Given the description of an element on the screen output the (x, y) to click on. 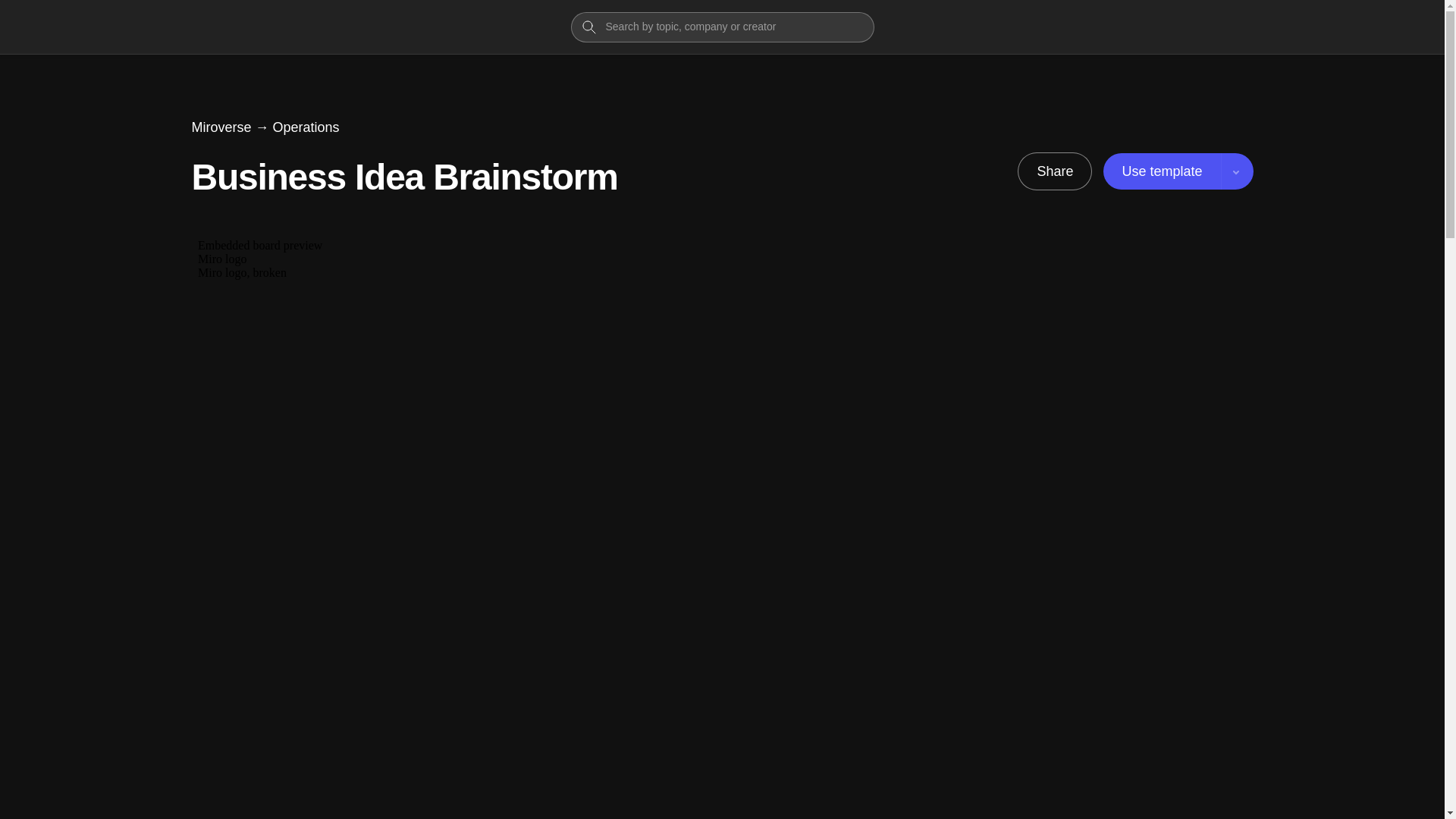
Operations (306, 127)
Share (1053, 171)
Miroverse (220, 127)
Use template (1177, 171)
